Given the description of an element on the screen output the (x, y) to click on. 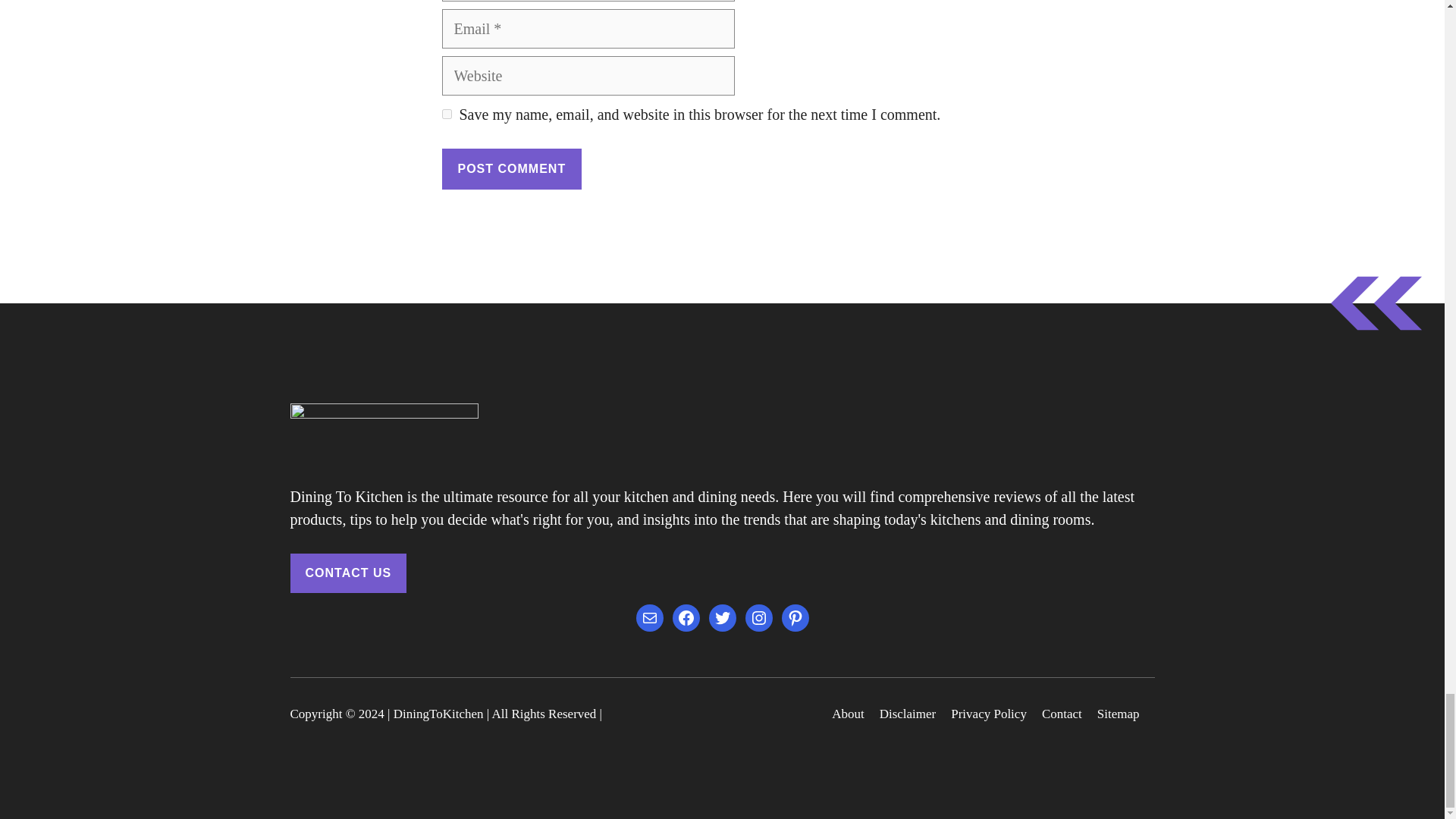
Post Comment (510, 168)
yes (446, 113)
